Given the description of an element on the screen output the (x, y) to click on. 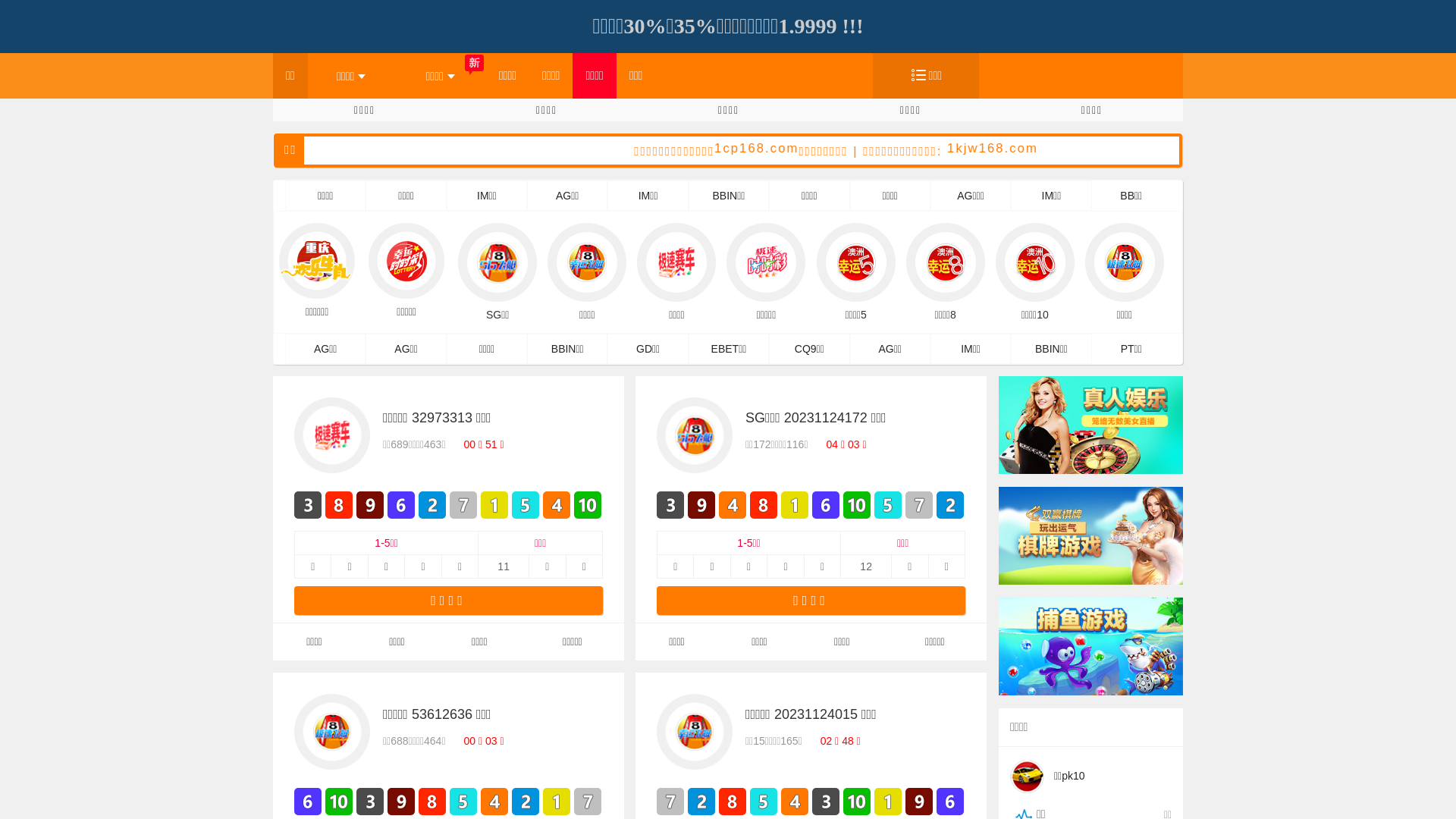
1cp168.com Element type: text (861, 148)
1kjw168.com Element type: text (1096, 148)
